Given the description of an element on the screen output the (x, y) to click on. 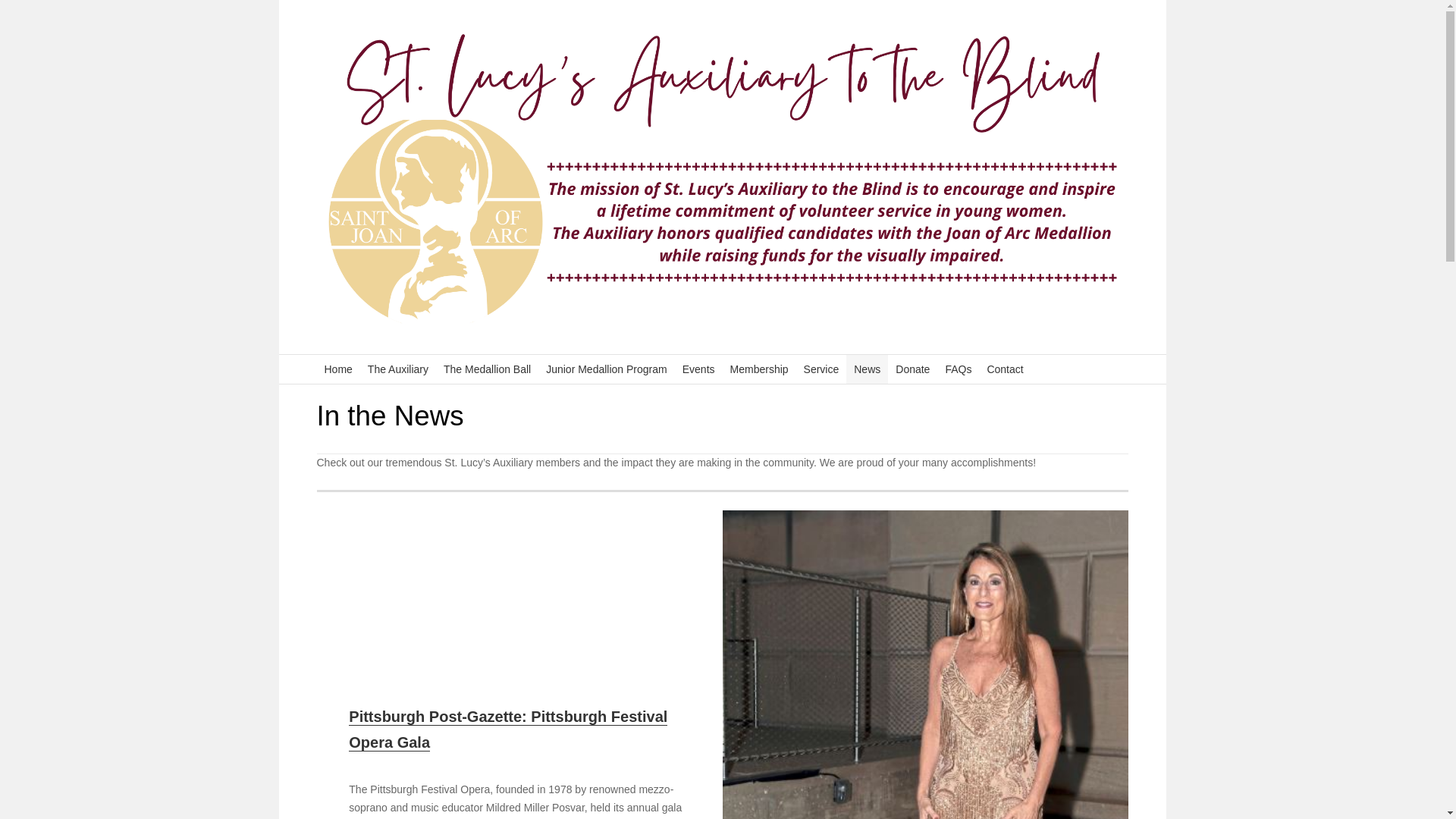
Events (698, 369)
Pittsburgh Post-Gazette: Pittsburgh Festival Opera Gala (507, 729)
The Medallion Ball (486, 369)
Donate (912, 369)
Service (821, 369)
Home (338, 369)
News (866, 369)
The Auxiliary (397, 369)
Contact (1004, 369)
FAQs (957, 369)
Membership (759, 369)
Junior Medallion Program (606, 369)
